Given the description of an element on the screen output the (x, y) to click on. 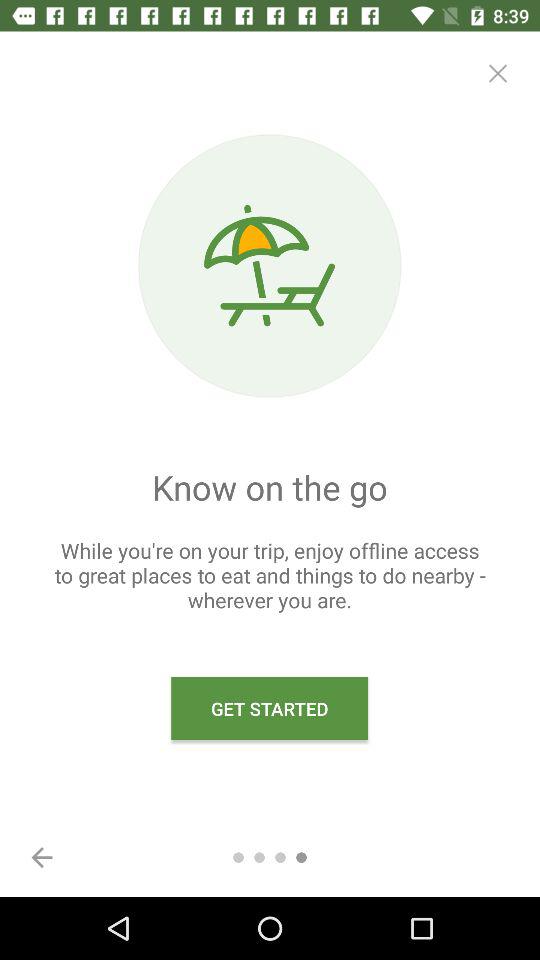
swipe until get started (269, 708)
